Given the description of an element on the screen output the (x, y) to click on. 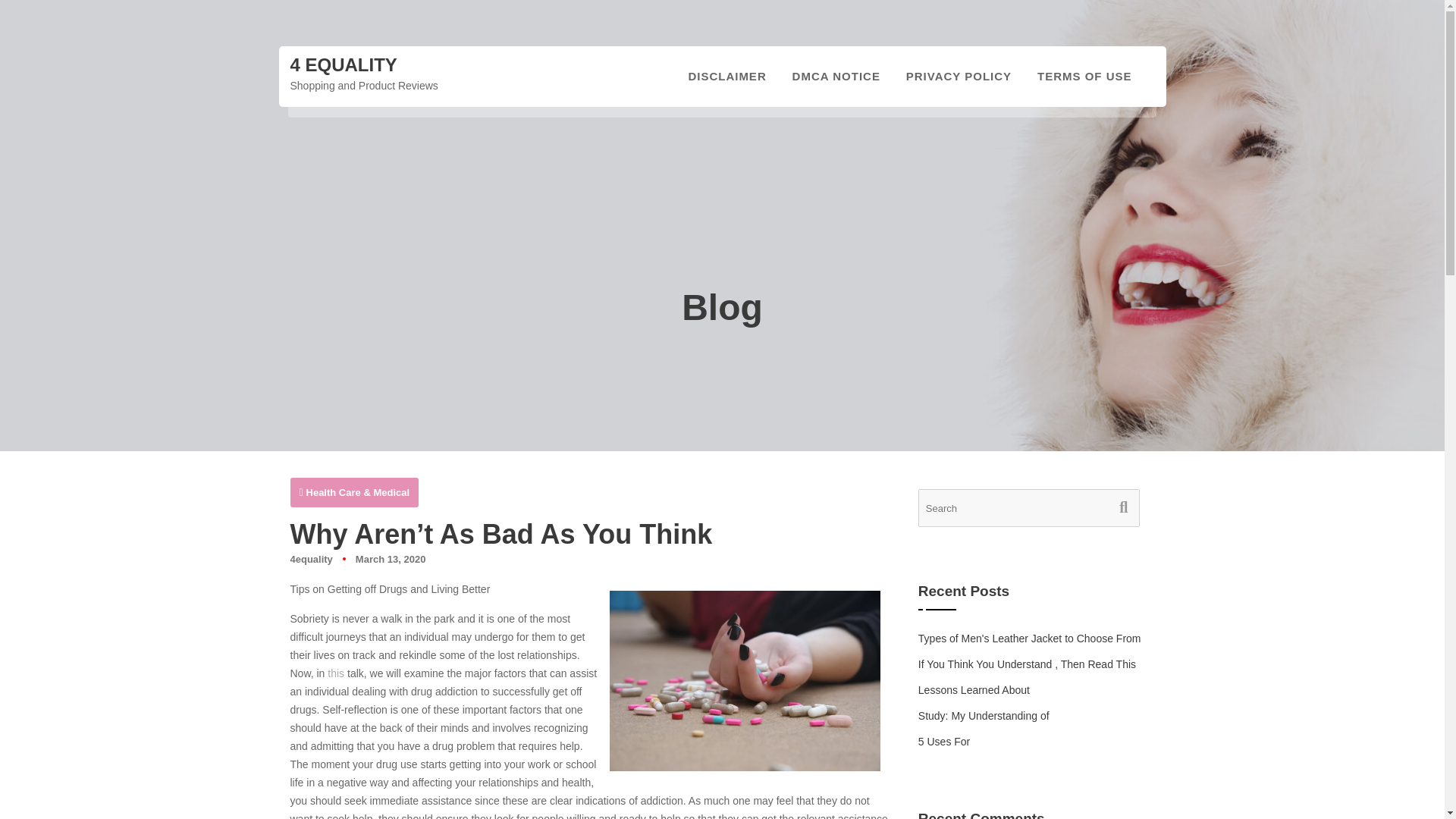
Study: My Understanding of (983, 715)
If You Think You Understand , Then Read This (1026, 664)
Lessons Learned About (973, 689)
Types of Men's Leather Jacket to Choose From (1029, 638)
this (335, 673)
TERMS OF USE (1084, 76)
PRIVACY POLICY (959, 76)
DMCA NOTICE (835, 76)
4equality (310, 559)
4 EQUALITY (342, 64)
4 Equality (342, 64)
March 13, 2020 (390, 559)
DISCLAIMER (727, 76)
5 Uses For (943, 741)
